Given the description of an element on the screen output the (x, y) to click on. 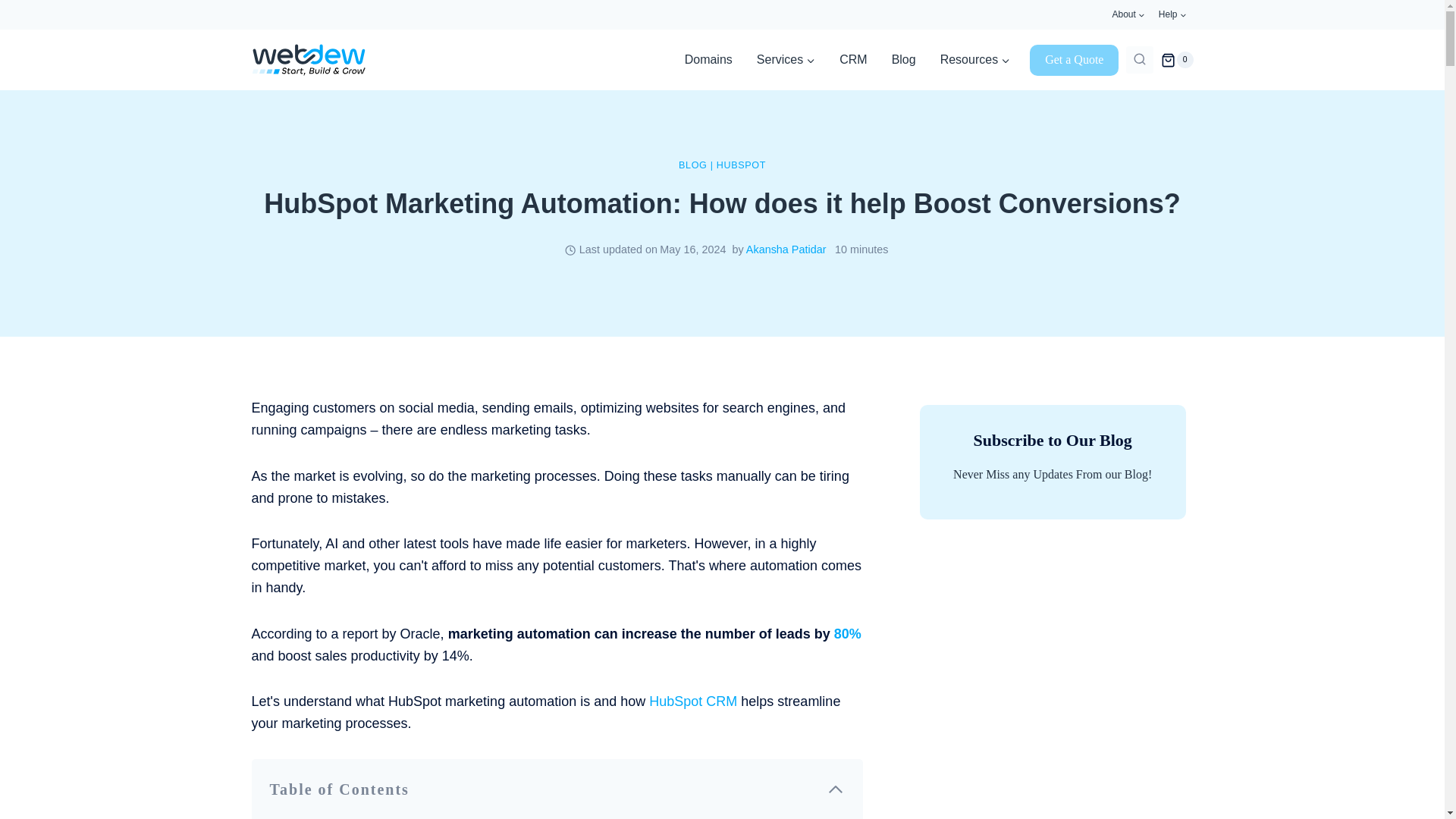
Help (1172, 14)
Services (785, 59)
Domains (708, 59)
About (1128, 14)
